Given the description of an element on the screen output the (x, y) to click on. 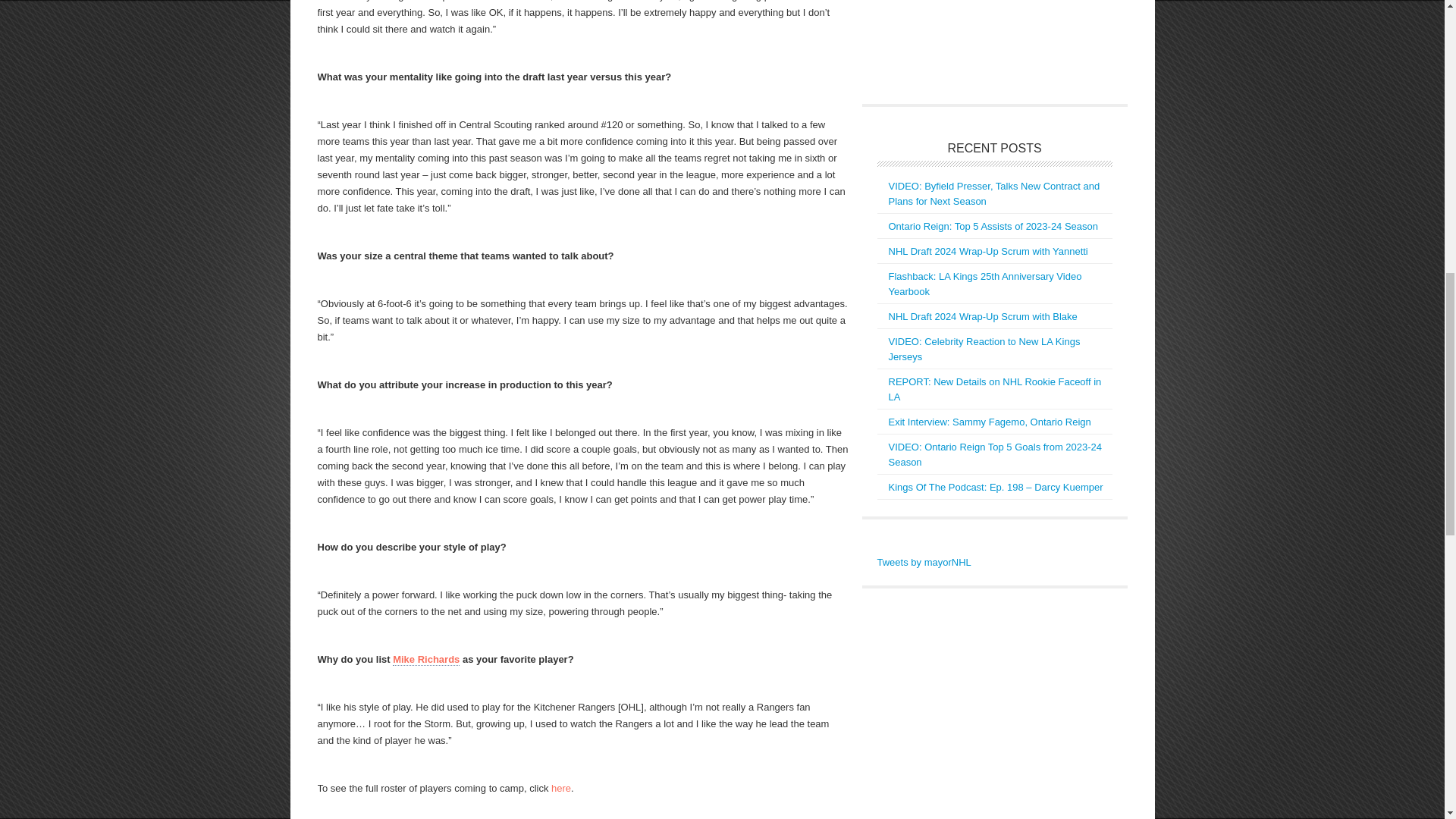
Mike Richards (426, 659)
here (560, 787)
3rd party ad content (989, 44)
